Given the description of an element on the screen output the (x, y) to click on. 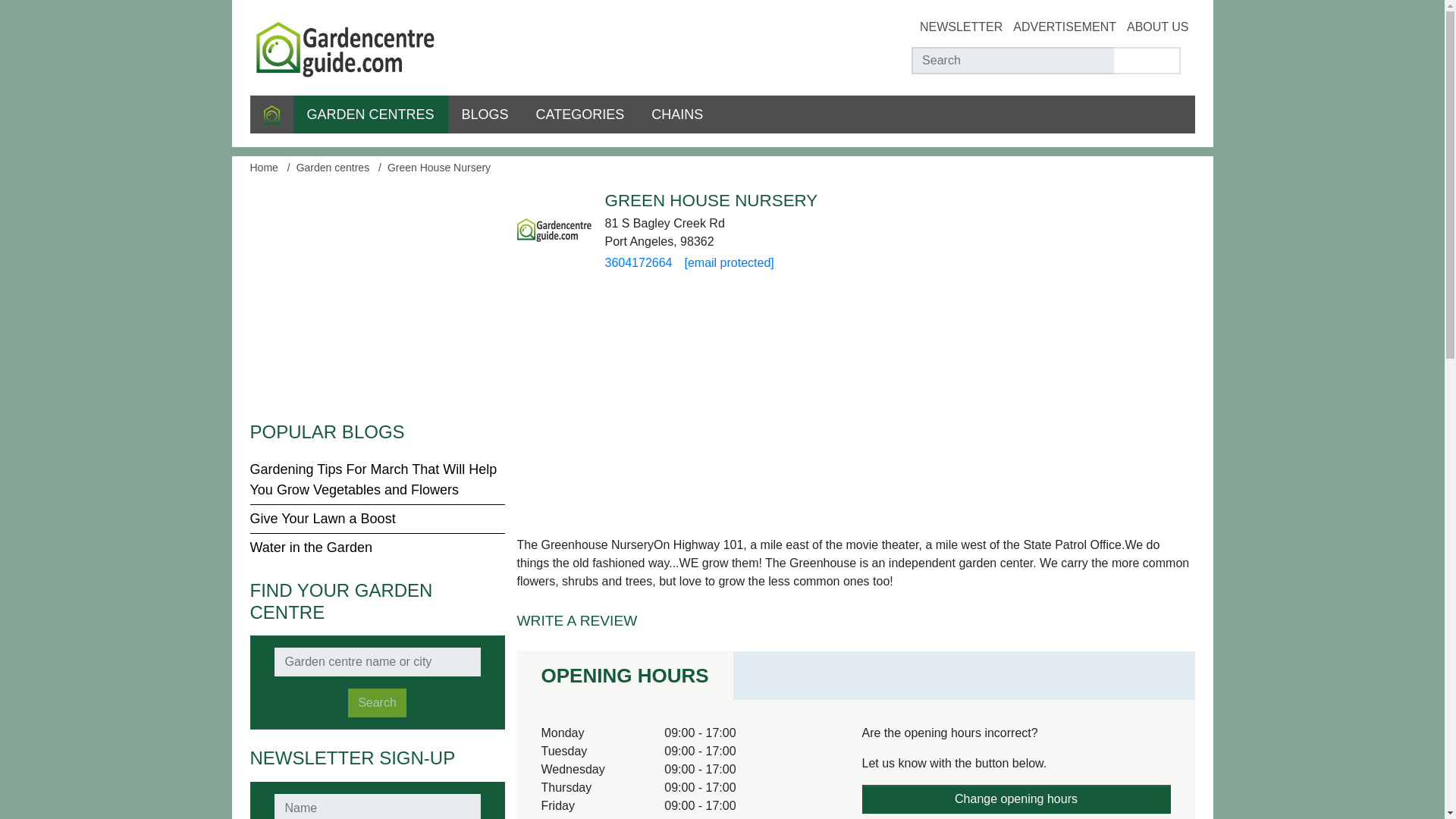
Garden centres (369, 114)
Change opening hours (1015, 799)
Advertisement (377, 296)
Green House Nursery (438, 167)
Garden centres (333, 167)
Newsletter (961, 27)
BLOGS (485, 114)
Give Your Lawn a Boost (323, 518)
Chains (676, 114)
Advertisement (1064, 27)
